Given the description of an element on the screen output the (x, y) to click on. 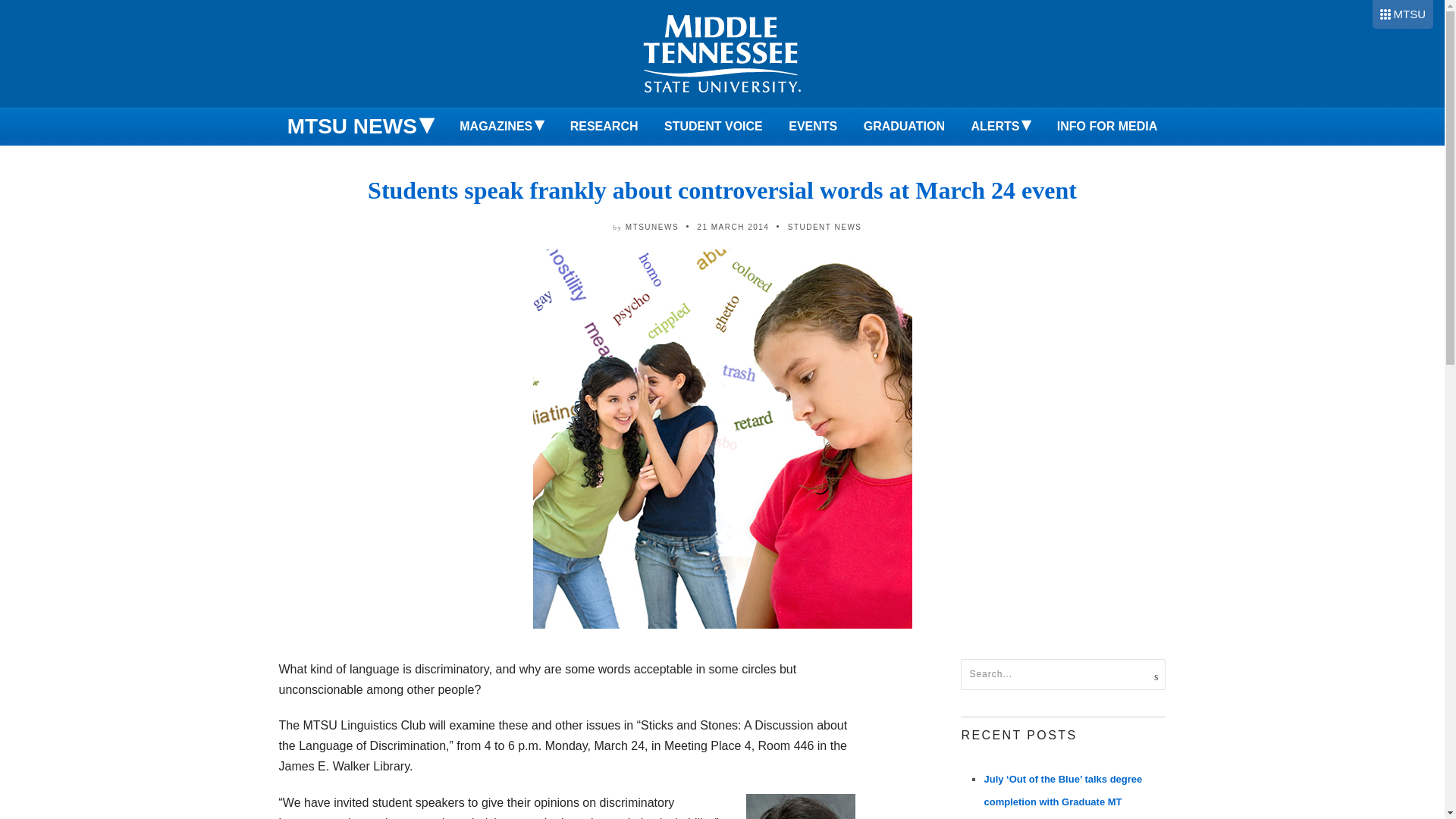
Posts by mtsunews (652, 226)
Dr Aleka Blackwell web (800, 806)
March 21, 2014 10:29 (732, 226)
